Given the description of an element on the screen output the (x, y) to click on. 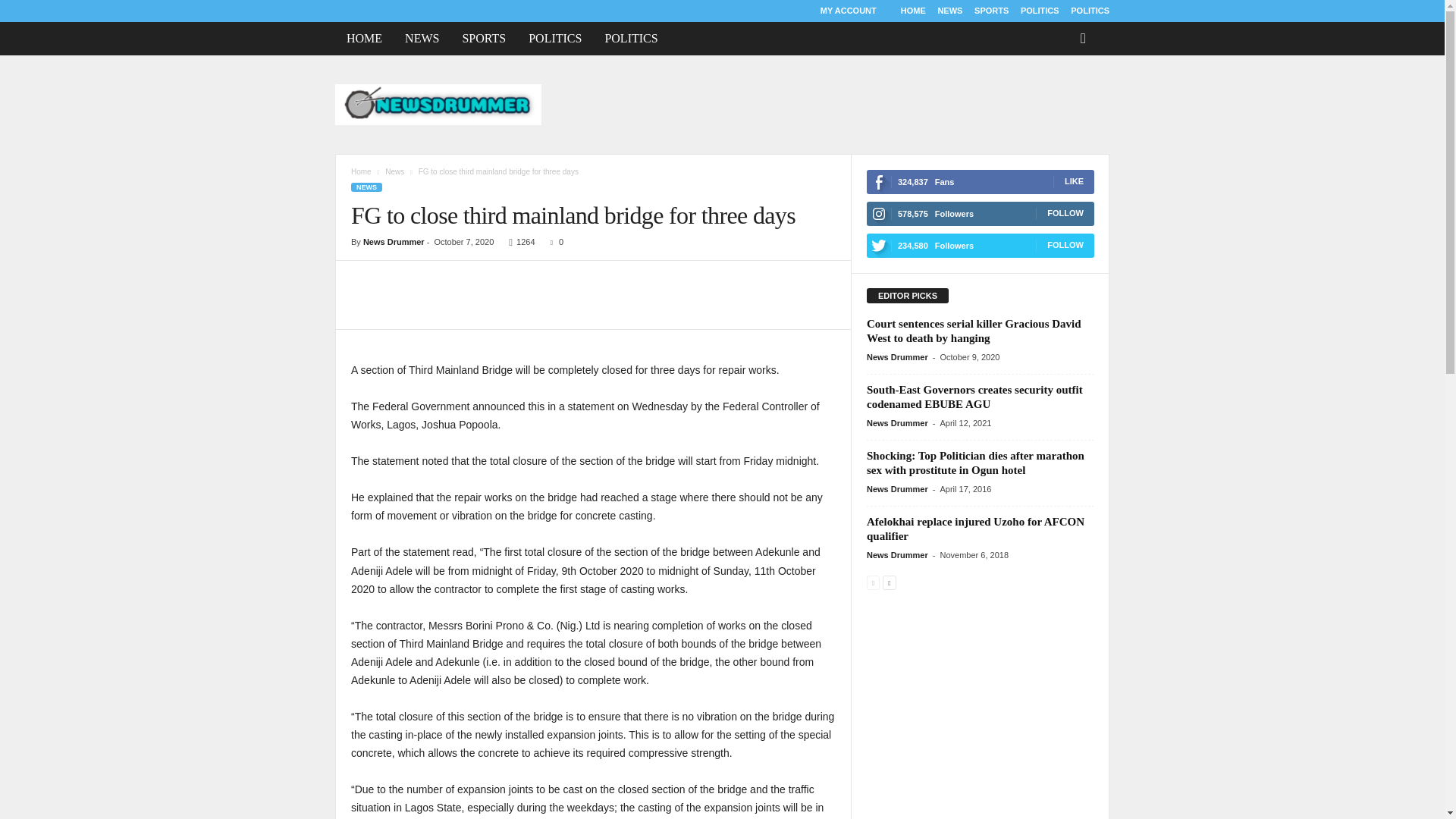
POLITICS (630, 38)
0 (553, 241)
POLITICS (554, 38)
POLITICS (1089, 10)
HOME (363, 38)
News Drummer (393, 241)
NEWS (365, 186)
SPORTS (991, 10)
NEWS (949, 10)
Home (360, 171)
POLITICS (1039, 10)
NEWS (421, 38)
SPORTS (482, 38)
HOME (913, 10)
News (394, 171)
